Given the description of an element on the screen output the (x, y) to click on. 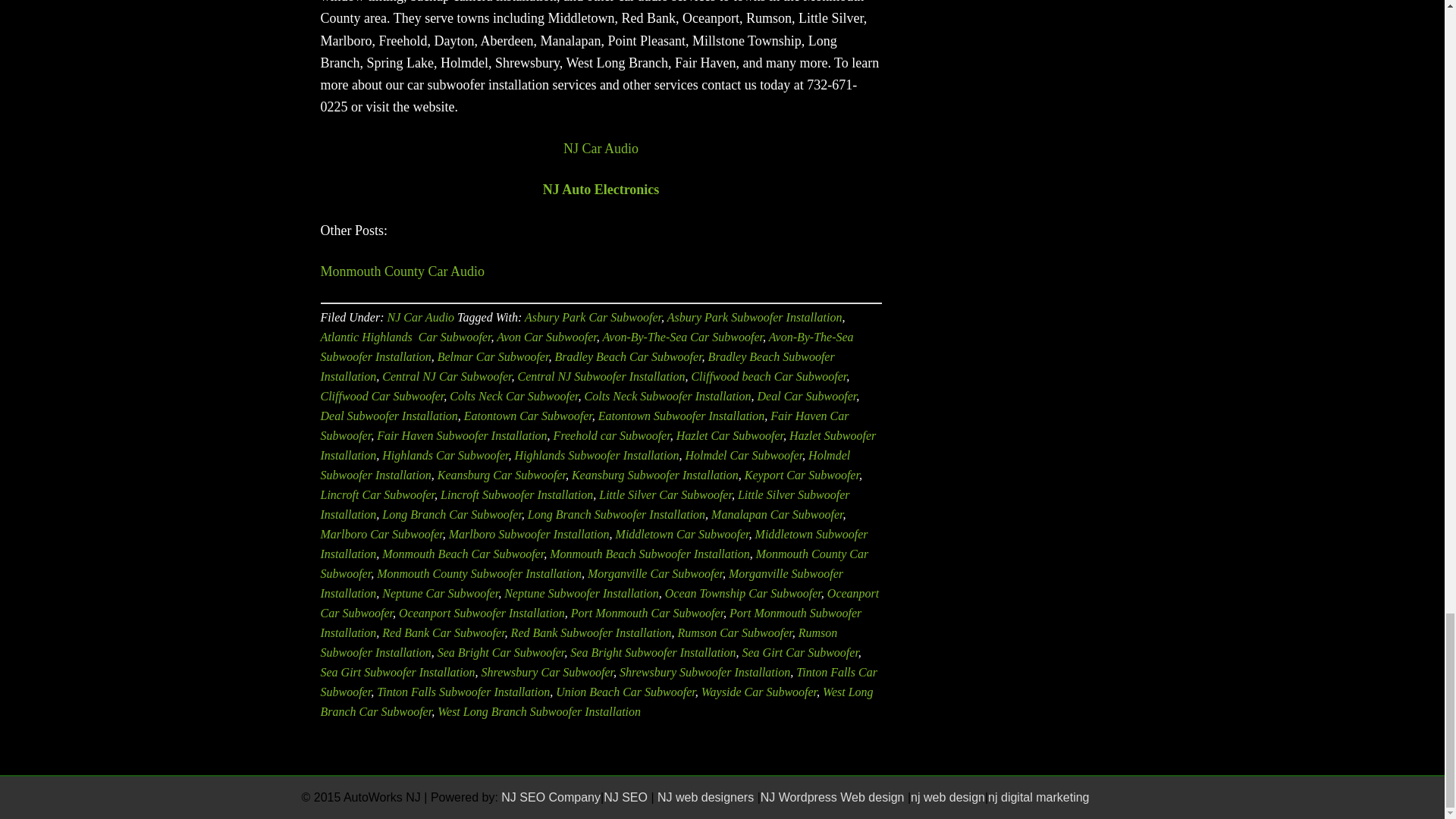
Bradley Beach Car Subwoofer (627, 356)
Fair Haven Subwoofer Installation (462, 435)
Deal Subwoofer Installation (388, 415)
Hazlet Subwoofer Installation (598, 445)
Cliffwood beach Car Subwoofer (767, 376)
Deal Car Subwoofer (807, 395)
Cliffwood Car Subwoofer (382, 395)
Freehold car Subwoofer (611, 435)
Fair Haven Car Subwoofer (584, 425)
Eatontown Subwoofer Installation (681, 415)
Colts Neck Car Subwoofer (513, 395)
Eatontown Car Subwoofer (528, 415)
Avon-By-The-Sea Car Subwoofer (682, 336)
Avon Car Subwoofer (546, 336)
Highlands Car Subwoofer (444, 454)
